Given the description of an element on the screen output the (x, y) to click on. 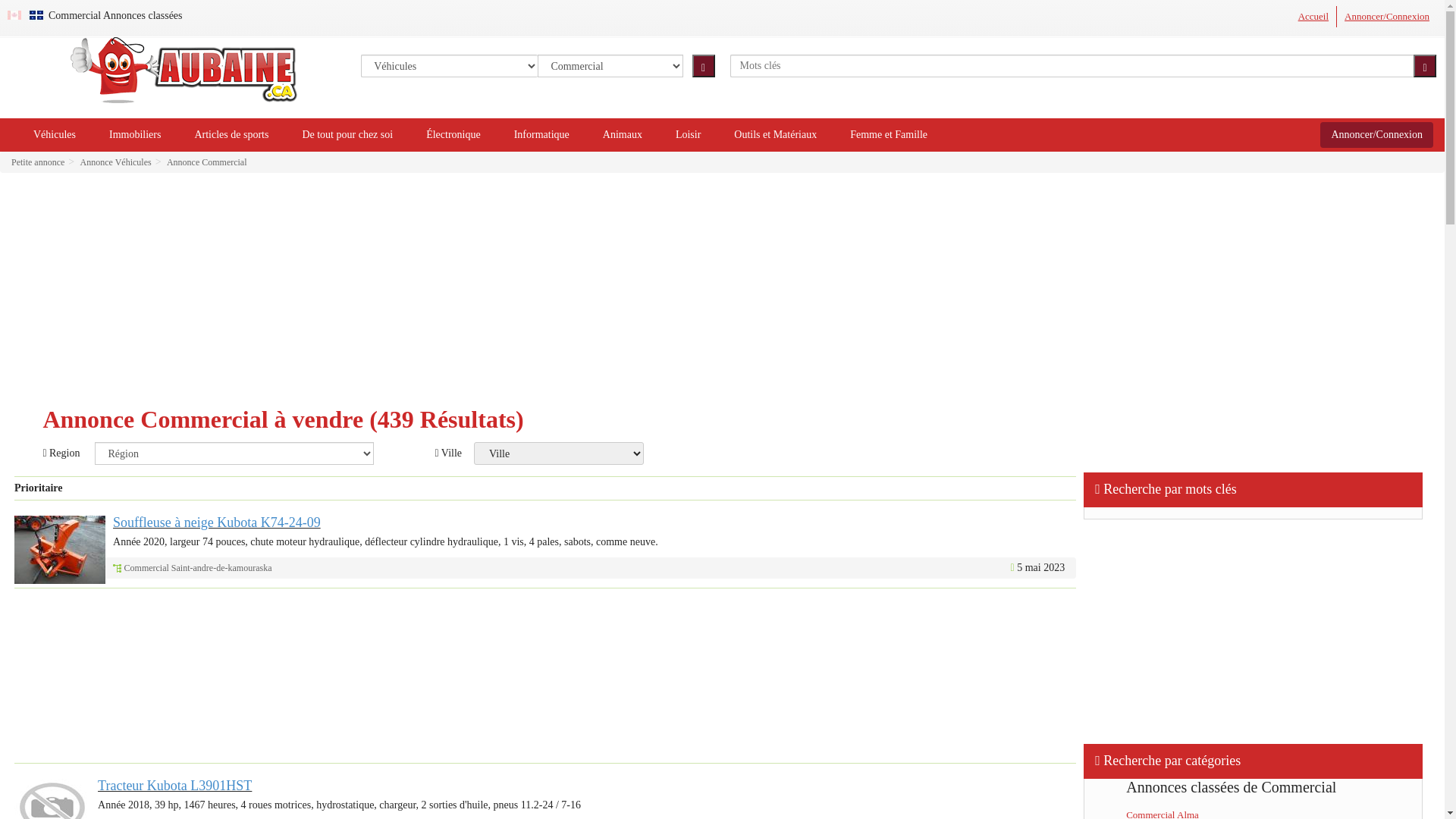
Informatique Element type: text (541, 134)
Advertisement Element type: hover (545, 675)
Advertisement Element type: hover (721, 294)
Petite annonce Element type: text (37, 161)
De tout pour chez soi Element type: text (347, 134)
Articles de sports Element type: text (230, 134)
Annoncer/Connexion Element type: text (1386, 15)
Accueil Element type: text (1313, 16)
Annoncer/Connexion Element type: text (1386, 16)
Annonce Commercial Element type: text (206, 161)
Loisir Element type: text (688, 134)
Advertisement Element type: hover (1253, 629)
Tracteur Kubota L3901HST Element type: text (174, 785)
Animaux Element type: text (622, 134)
Commercial Saint-andre-de-kamouraska Element type: text (198, 567)
Immobiliers Element type: text (134, 134)
Accueil Element type: text (1313, 15)
Annoncer/Connexion Element type: text (1376, 134)
Femme et Famille Element type: text (888, 134)
